Given the description of an element on the screen output the (x, y) to click on. 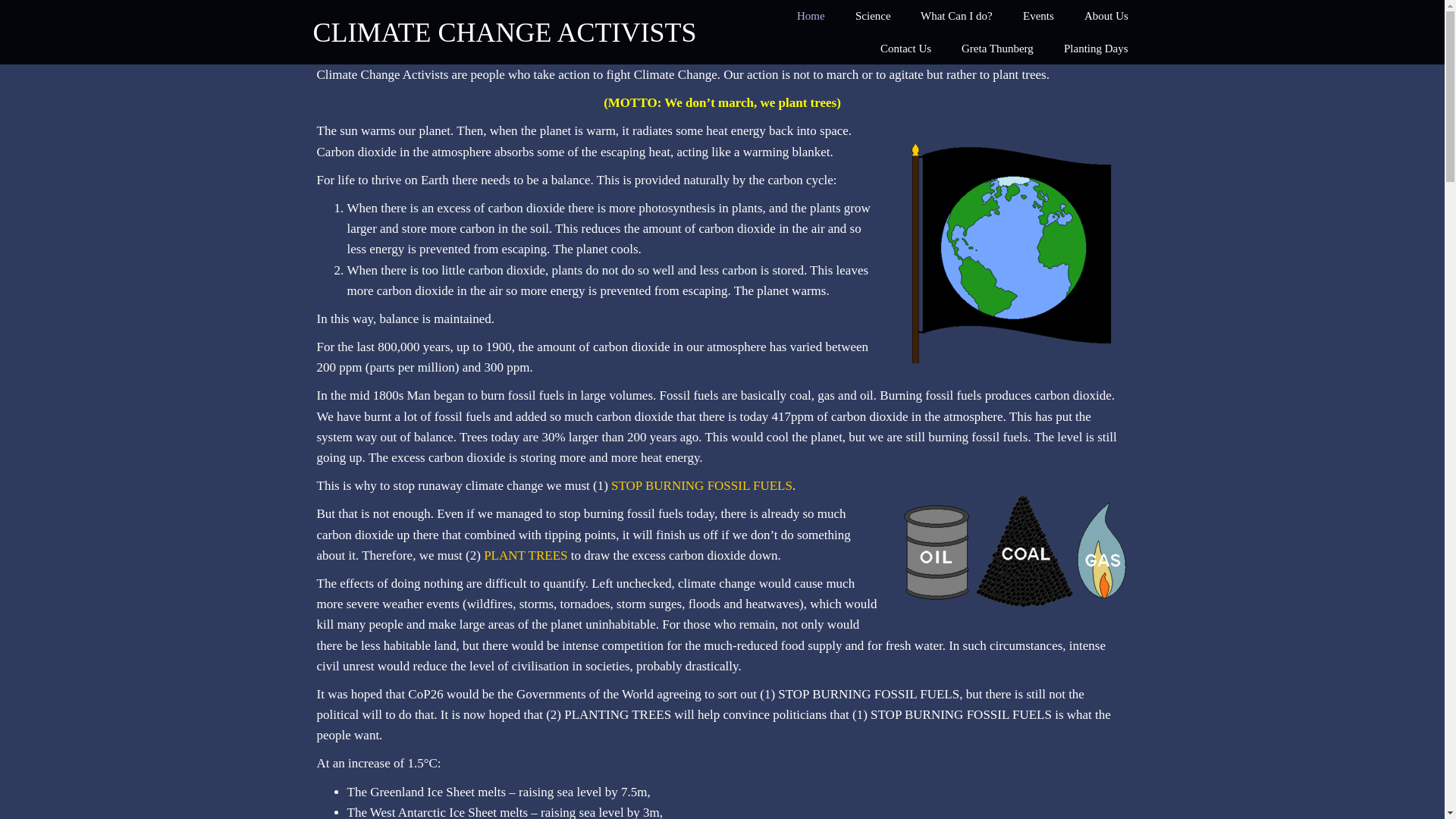
Greta Thunberg (997, 47)
Home (810, 16)
What Can I do? (956, 16)
Events (1037, 16)
Science (872, 16)
About Us (1105, 16)
Contact Us (905, 47)
CLIMATE CHANGE ACTIVISTS (504, 32)
Planting Days (1095, 47)
